Given the description of an element on the screen output the (x, y) to click on. 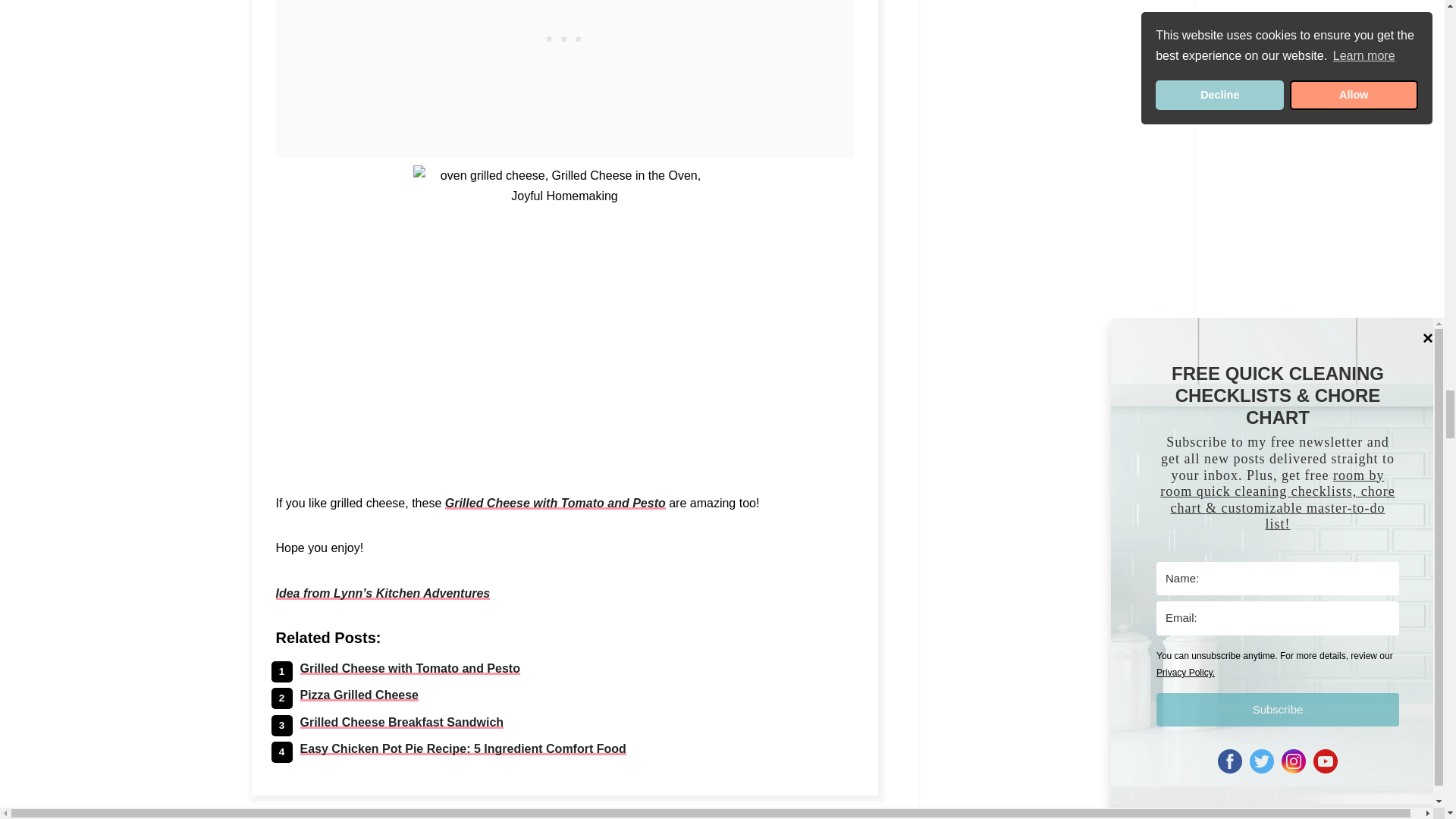
Grilled Cheese Breakfast Sandwich (401, 721)
Pizza Grilled Cheese (359, 694)
Grilled Cheese with Tomato and Pesto (409, 667)
Easy Chicken Pot Pie Recipe: 5 Ingredient Comfort Food (462, 748)
